Given the description of an element on the screen output the (x, y) to click on. 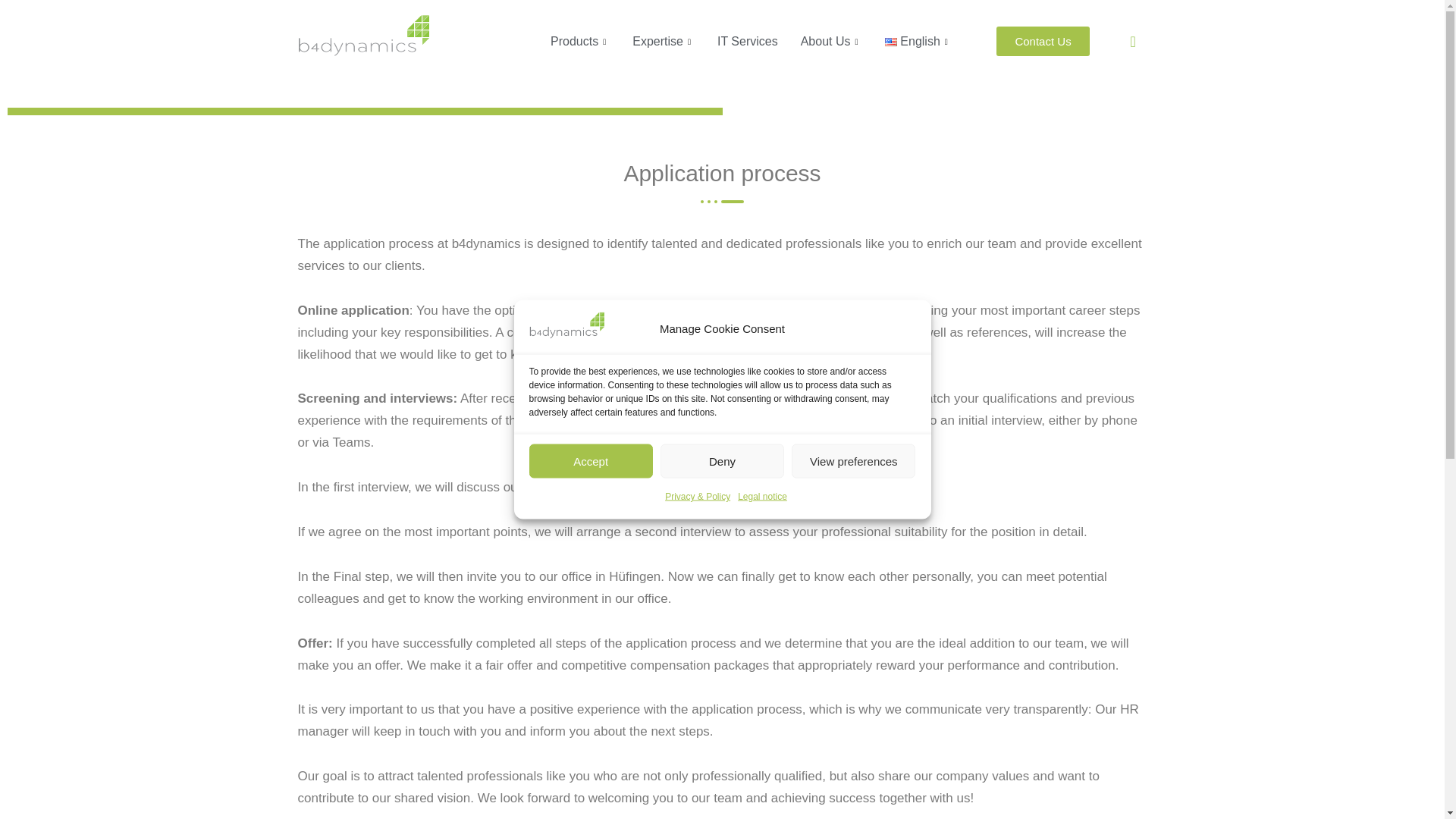
Deny (722, 767)
View preferences (853, 731)
Legal notice (762, 638)
Products (579, 41)
Accept (590, 804)
Skip to content (11, 31)
